Given the description of an element on the screen output the (x, y) to click on. 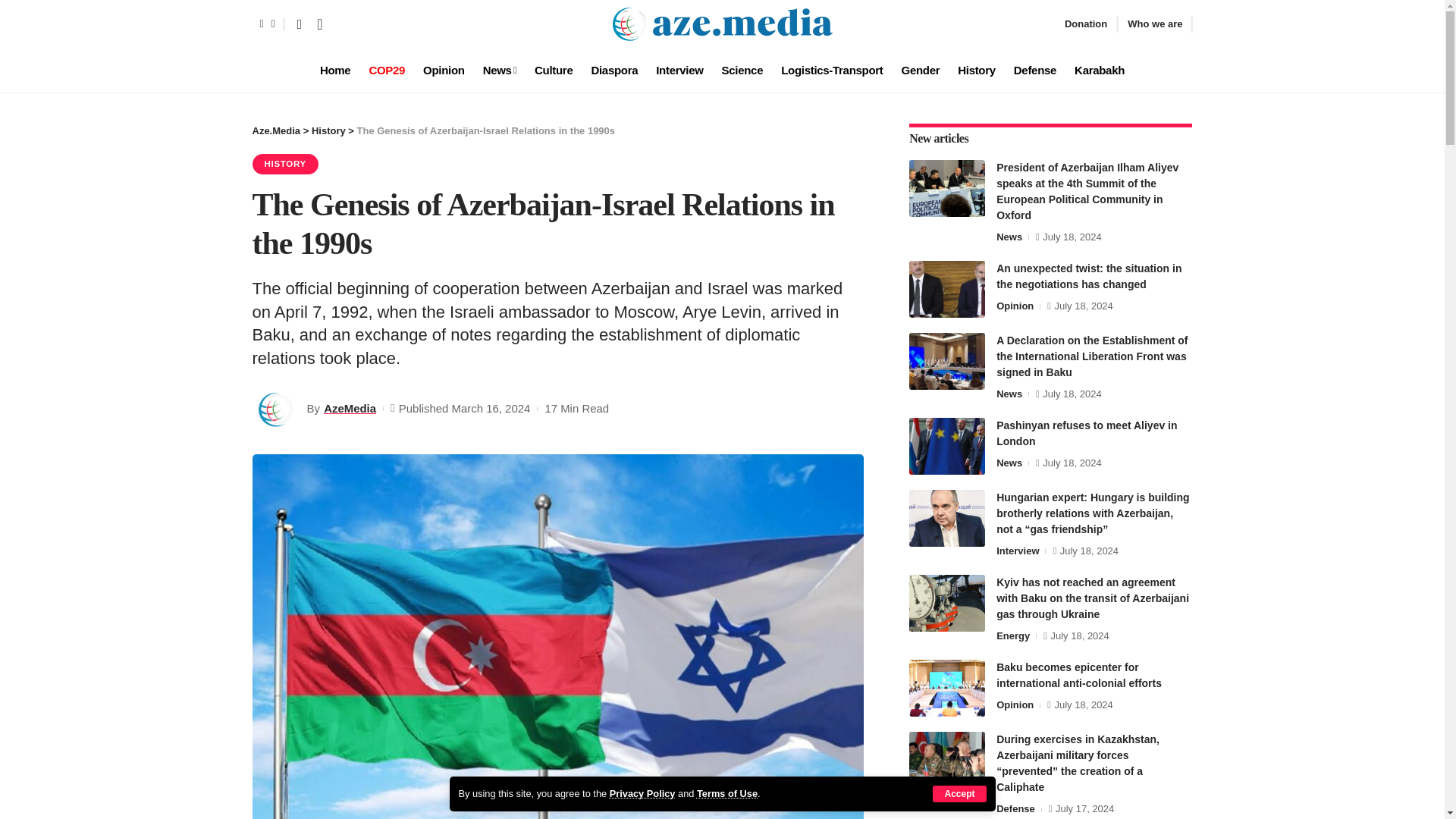
Logistics-Transport (831, 70)
Who we are (1154, 23)
Home (335, 70)
Accept (959, 793)
Defense (1034, 70)
Culture (552, 70)
Terms of Use (727, 793)
Opinion (443, 70)
Privacy Policy (642, 793)
Pashinyan refuses to meet Aliyev in London (946, 446)
History (976, 70)
Interview (678, 70)
Gender (920, 70)
COP29 (386, 70)
News (499, 70)
